Given the description of an element on the screen output the (x, y) to click on. 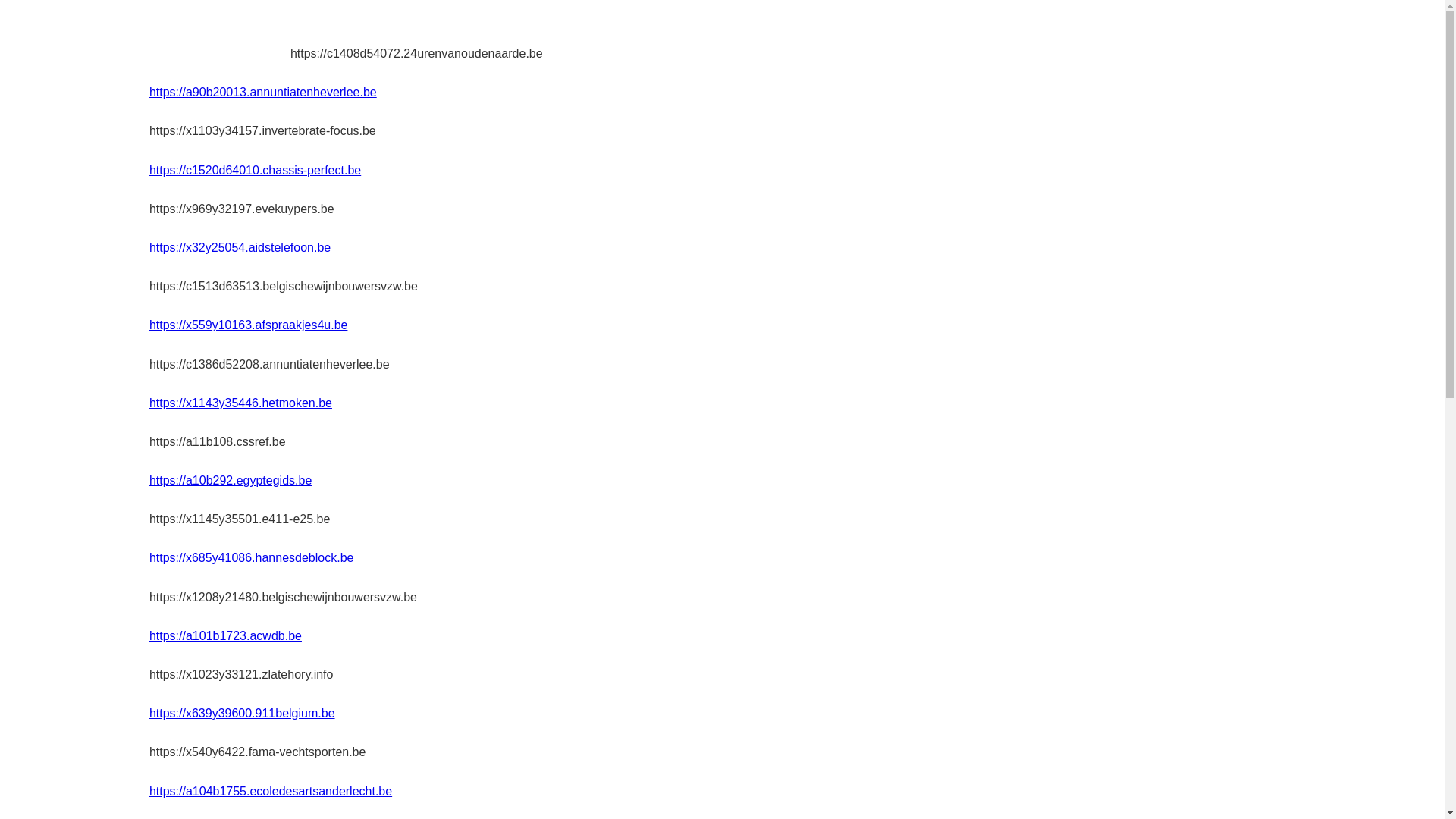
cs-evidentia-soins-infirmiers.be Element type: text (219, 34)
https://a90b20013.annuntiatenheverlee.be Element type: text (262, 91)
https://a104b1755.ecoledesartsanderlecht.be Element type: text (270, 790)
https://x559y10163.afspraakjes4u.be Element type: text (248, 324)
https://a101b1723.acwdb.be Element type: text (225, 635)
https://x1143y35446.hetmoken.be Element type: text (240, 402)
https://x685y41086.hannesdeblock.be Element type: text (251, 557)
https://c1520d64010.chassis-perfect.be Element type: text (254, 169)
https://x639y39600.911belgium.be Element type: text (242, 712)
https://x32y25054.aidstelefoon.be Element type: text (239, 247)
https://a10b292.egyptegids.be Element type: text (230, 479)
